Given the description of an element on the screen output the (x, y) to click on. 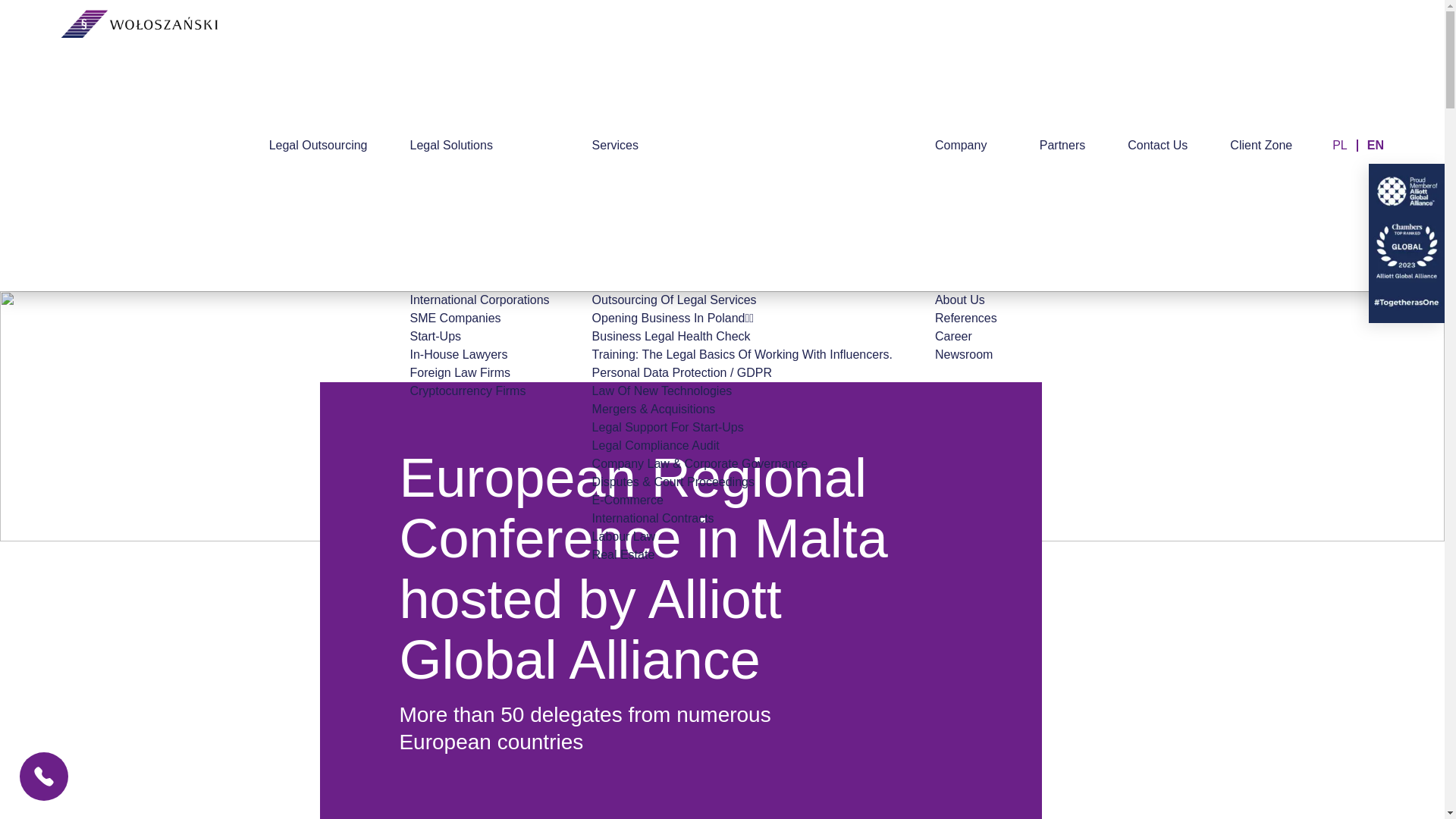
Legal Compliance Audit (742, 445)
Training: The Legal Basics of Working with Influencers. (742, 354)
About Us (965, 300)
Newsroom (965, 354)
Legal Support For Start-Ups (742, 427)
Labour Law (742, 536)
International corporations (478, 300)
PL (1340, 144)
Foreign law firms (478, 372)
EN (1375, 144)
International Corporations (478, 300)
Career (965, 336)
In-House Lawyers (478, 354)
Start-ups (478, 336)
Cryptocurrency firms (478, 391)
